Given the description of an element on the screen output the (x, y) to click on. 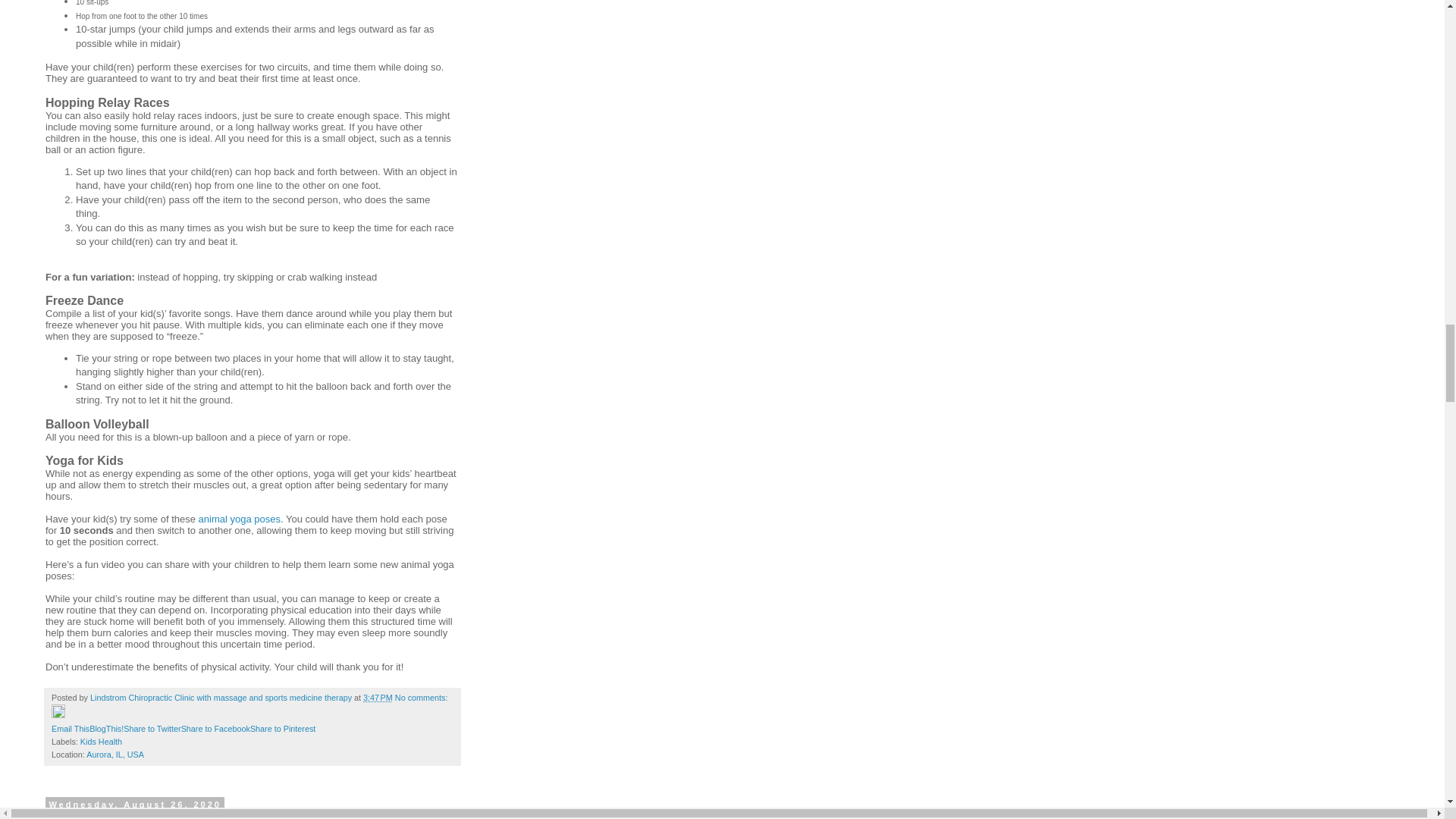
No comments: (421, 696)
animal yoga poses (239, 518)
